Given the description of an element on the screen output the (x, y) to click on. 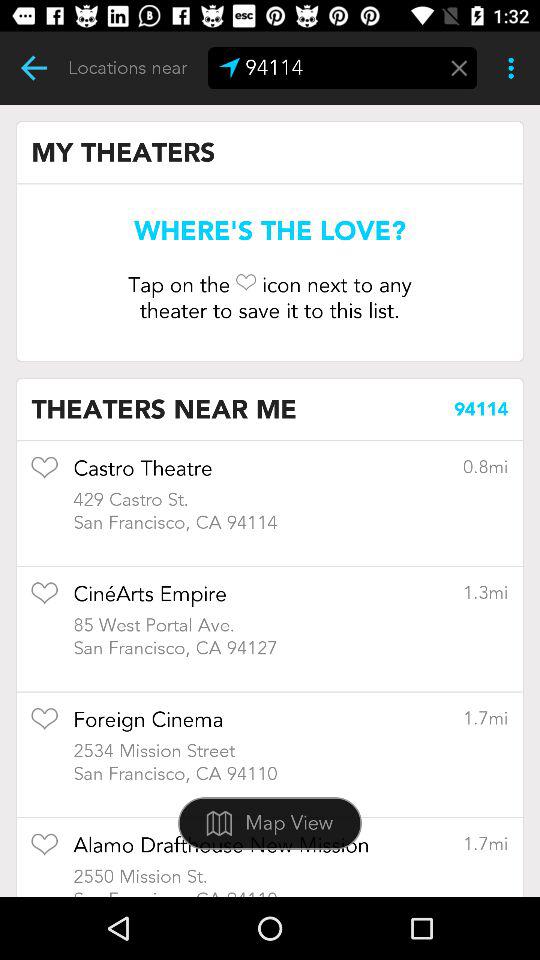
go to previous (34, 67)
